Given the description of an element on the screen output the (x, y) to click on. 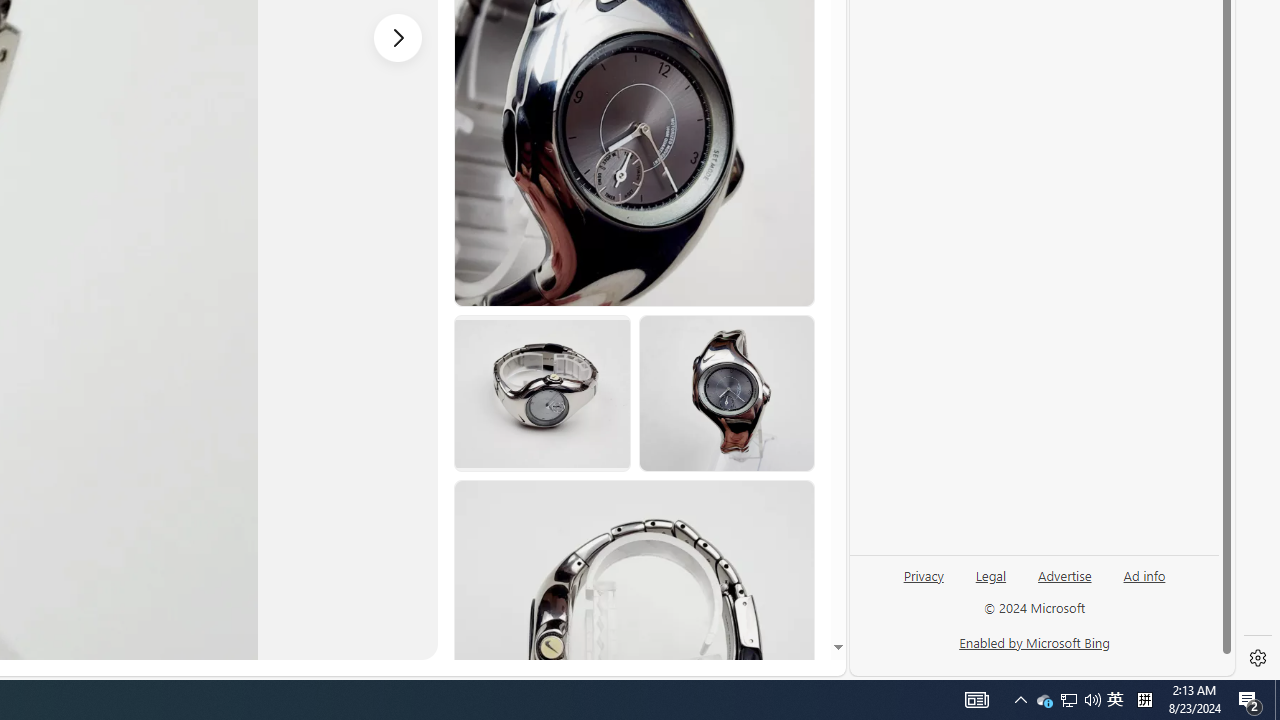
Next image - Item images thumbnails (397, 37)
